Given the description of an element on the screen output the (x, y) to click on. 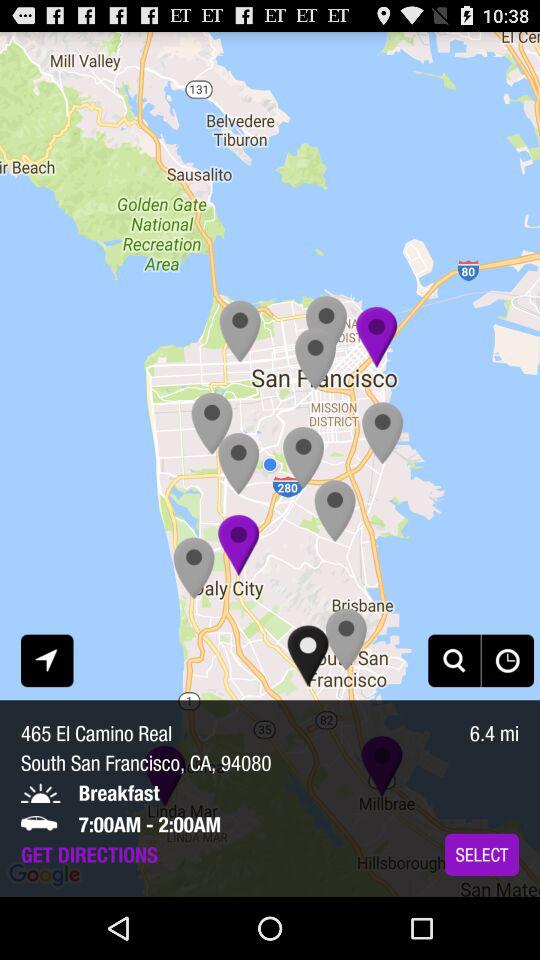
press item to the left of the select app (89, 854)
